Given the description of an element on the screen output the (x, y) to click on. 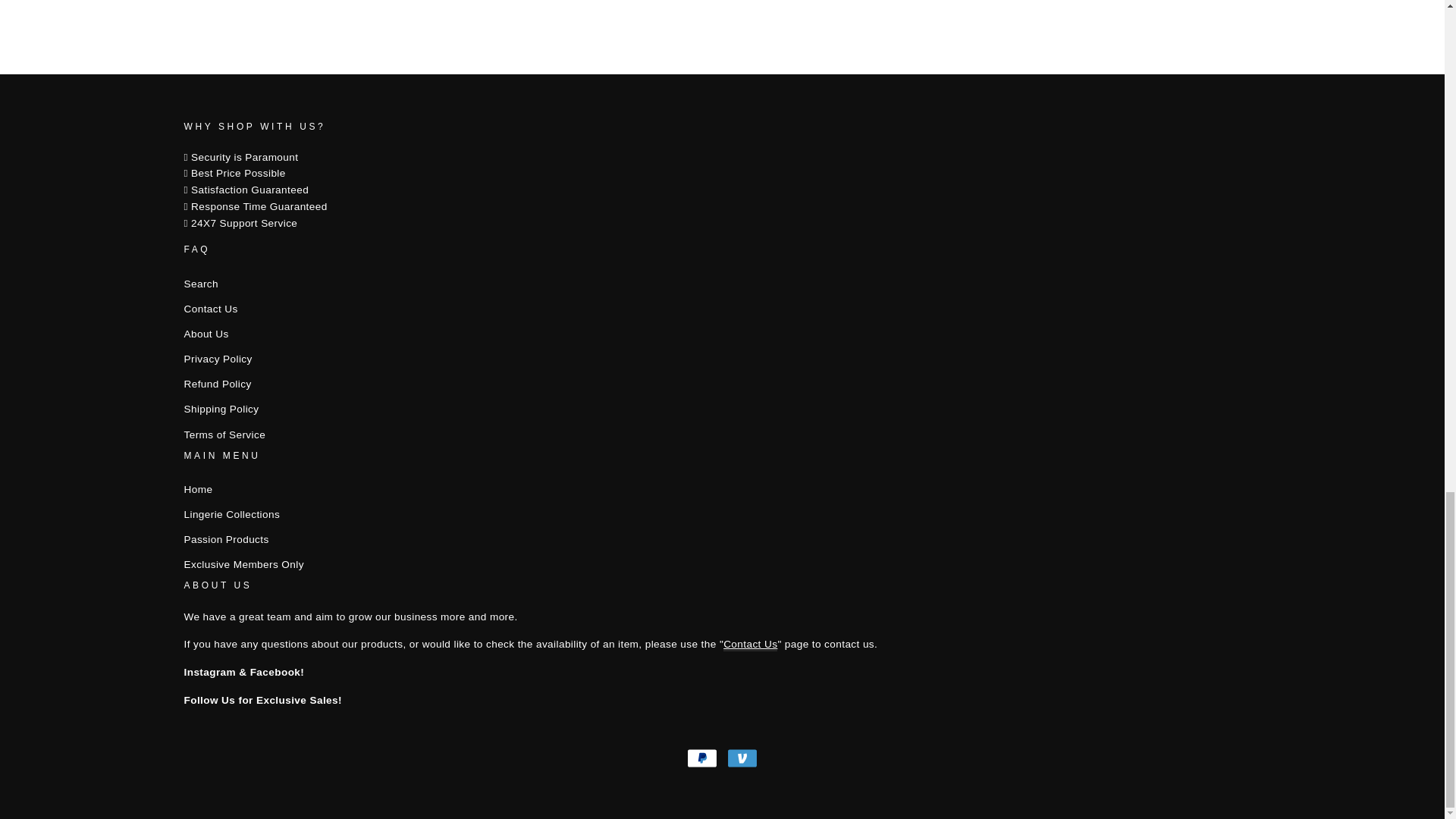
PayPal (702, 757)
Contact Us (750, 644)
Venmo (741, 757)
